Given the description of an element on the screen output the (x, y) to click on. 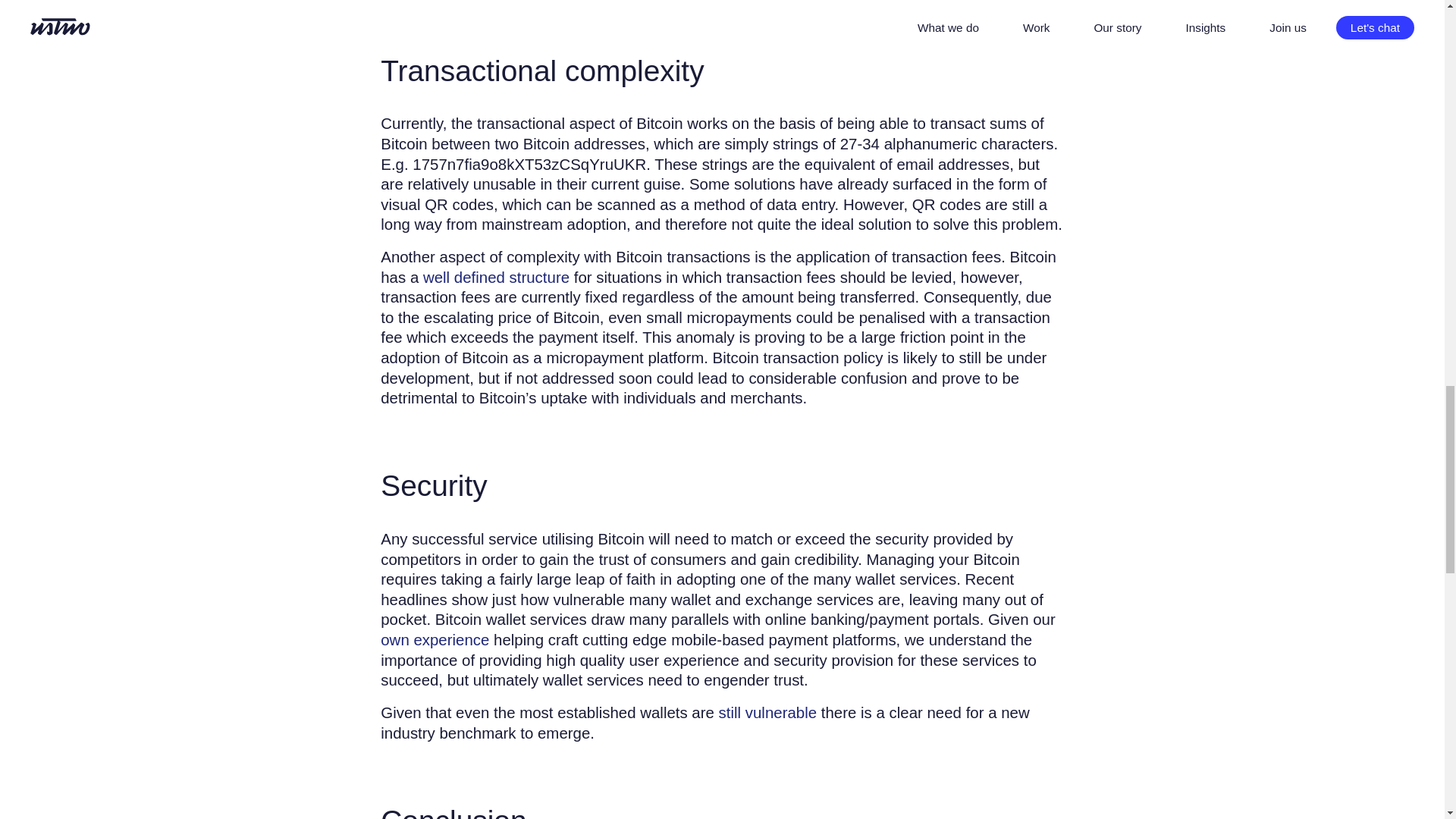
still vulnerable (767, 712)
own experience (434, 639)
well defined structure (496, 276)
